Given the description of an element on the screen output the (x, y) to click on. 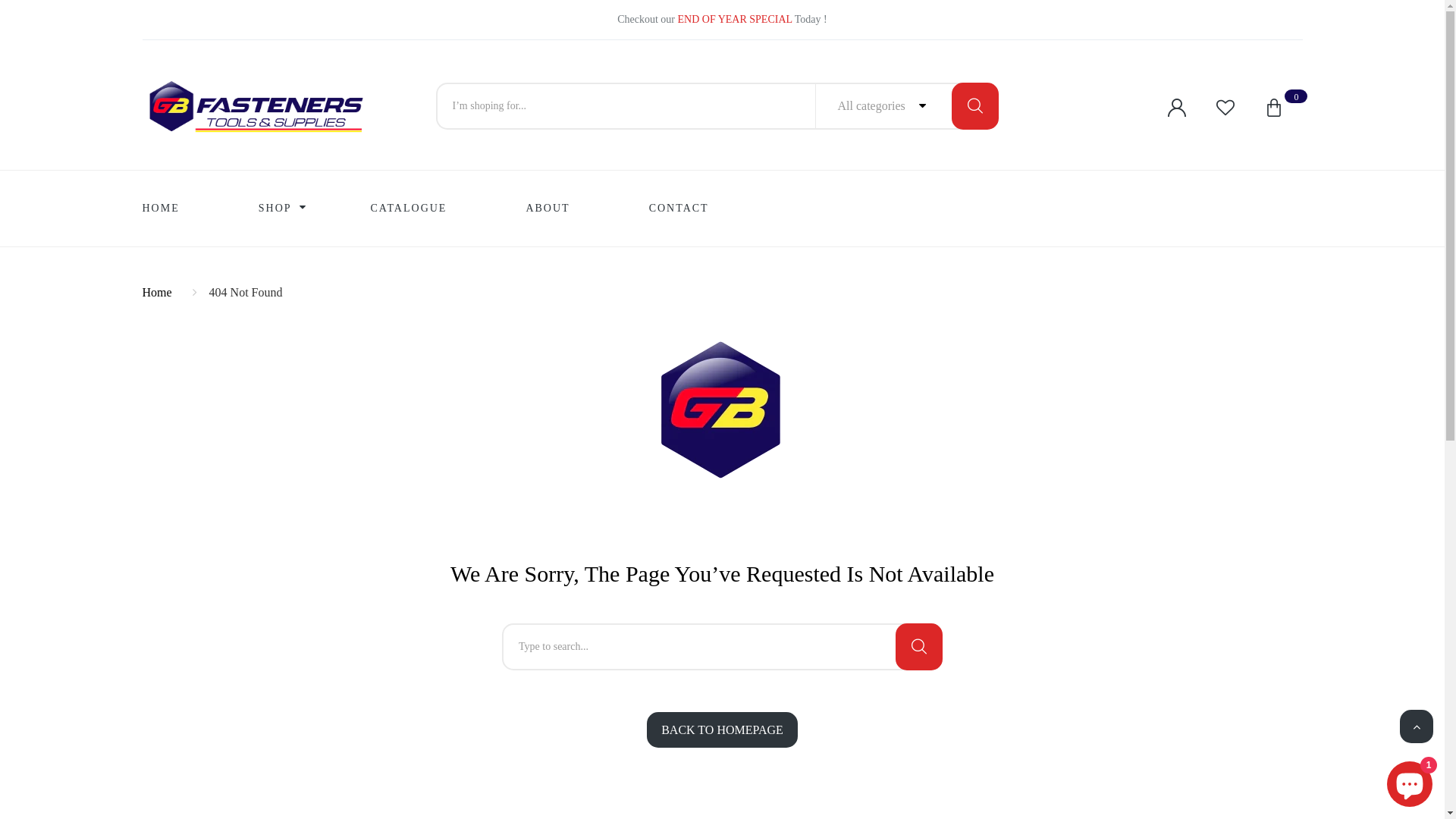
ABOUT Element type: text (547, 208)
Home Element type: text (159, 292)
BACK TO HOMEPAGE Element type: text (721, 729)
All categories Element type: text (908, 105)
CATALOGUE Element type: text (408, 208)
END OF YEAR SPECIAL Element type: text (734, 19)
HOME Element type: text (160, 208)
SHOP Element type: text (274, 208)
Shopify online store chat Element type: hover (1409, 780)
0 Element type: text (1273, 108)
CONTACT Element type: text (679, 208)
